Given the description of an element on the screen output the (x, y) to click on. 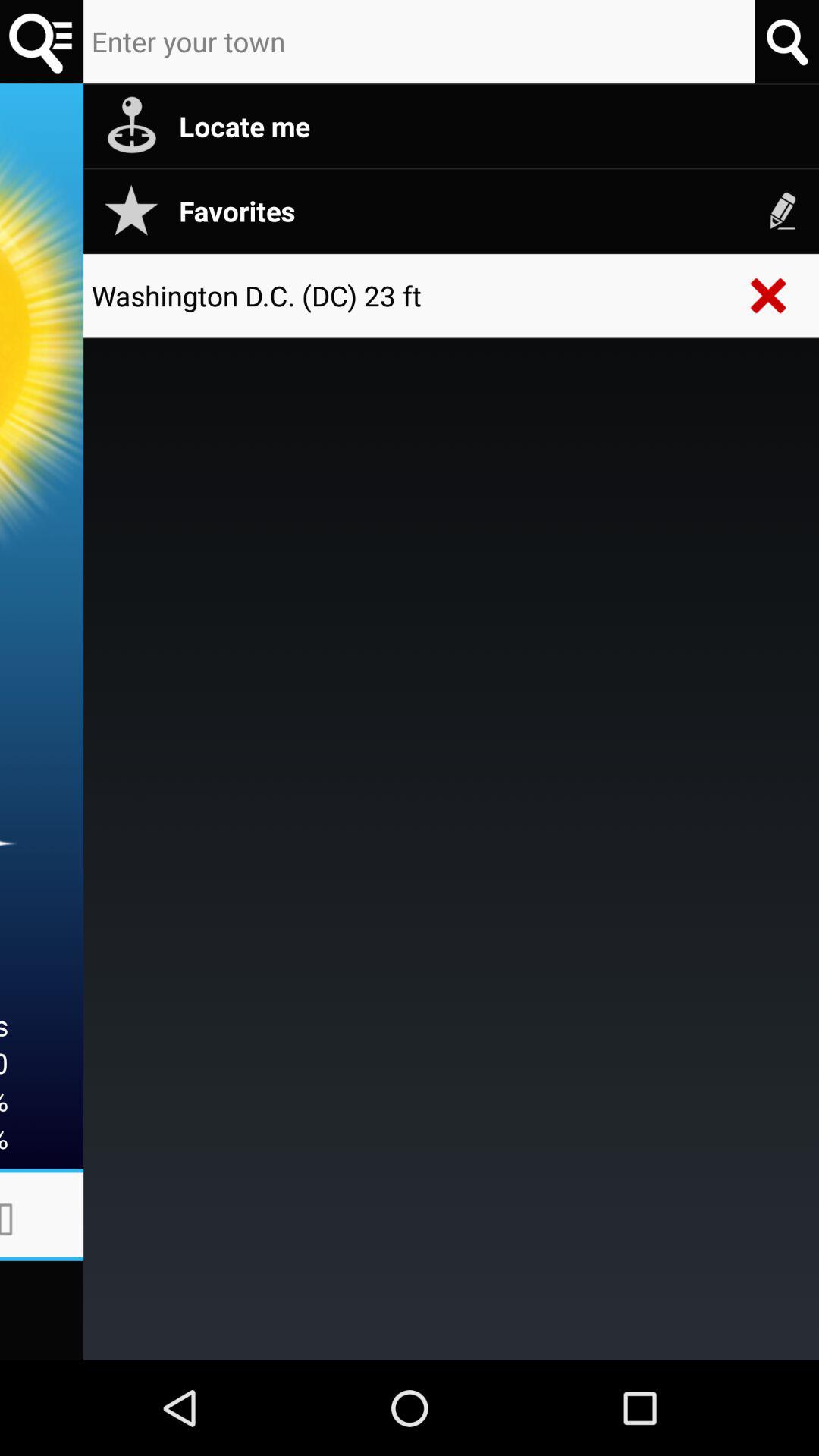
turn off the favorites icon (491, 210)
